Given the description of an element on the screen output the (x, y) to click on. 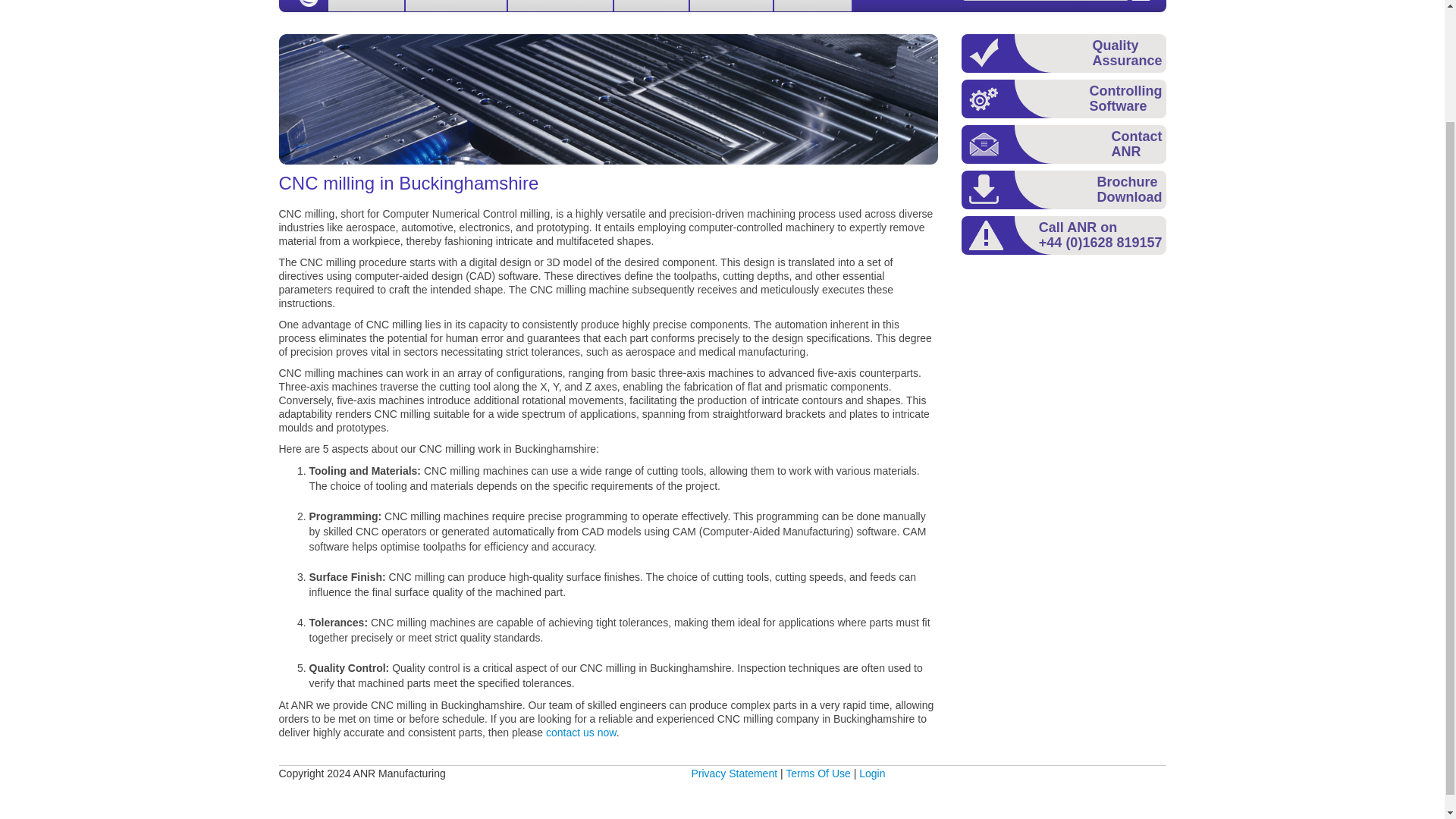
Quality (652, 5)
Privacy Statement (733, 773)
ANR Manufacturing (307, 3)
Electronics (456, 5)
About (1131, 187)
Clear search text (366, 5)
Engineering (1114, 1)
Contact (1139, 141)
